Given the description of an element on the screen output the (x, y) to click on. 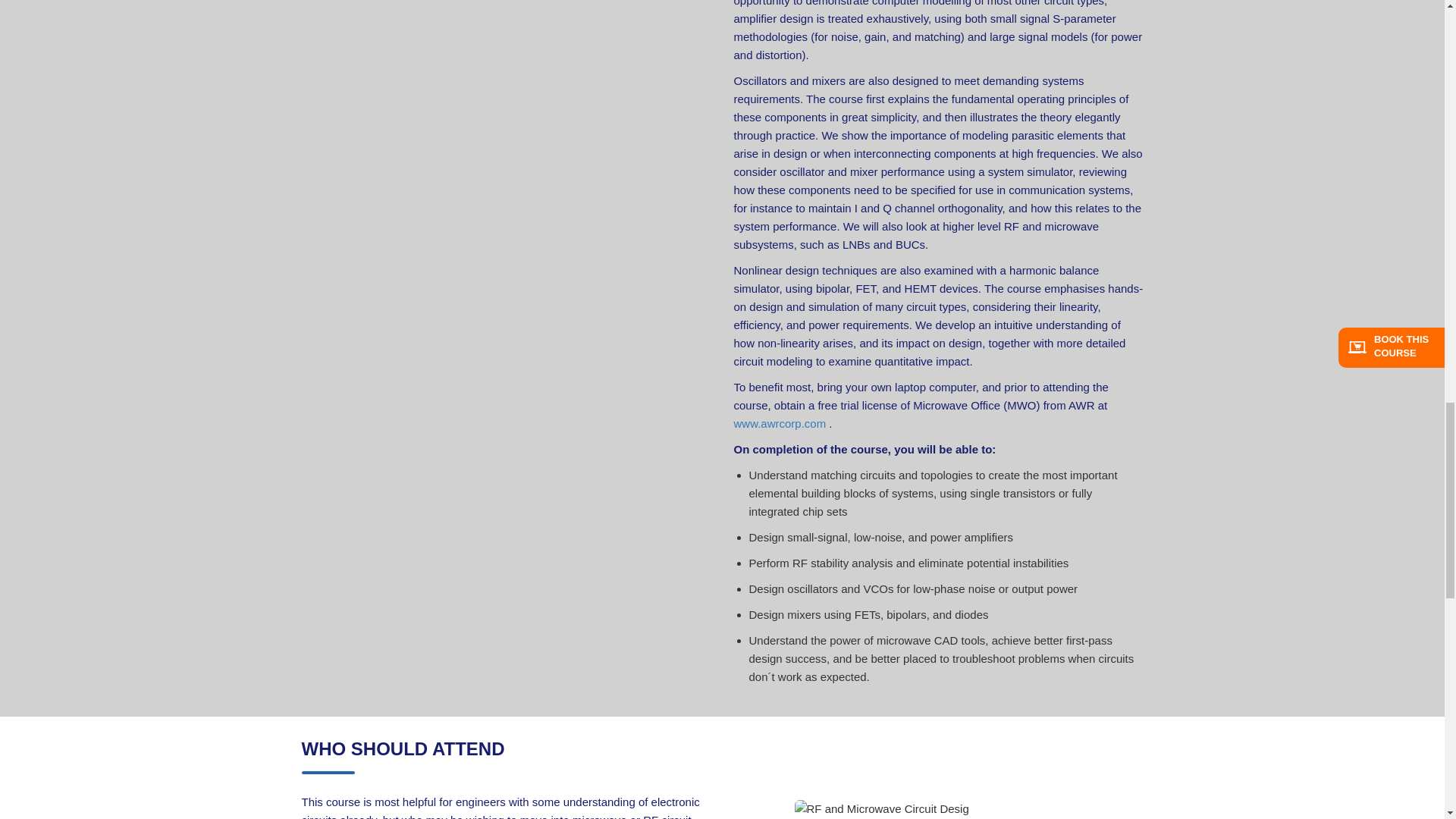
www.awrcorp.com (780, 422)
